Given the description of an element on the screen output the (x, y) to click on. 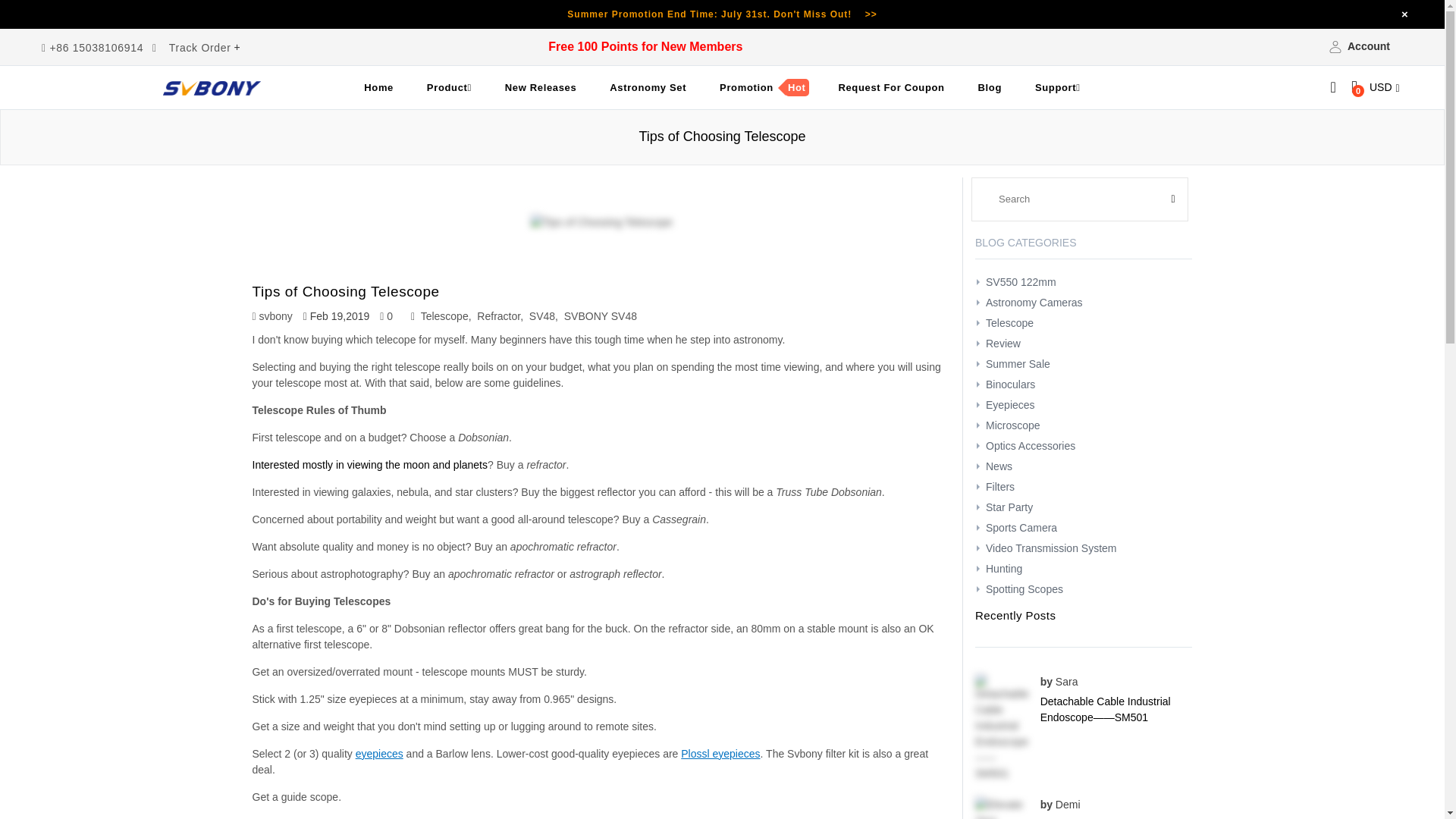
Home (379, 87)
Track Order (199, 47)
Svbony Plossl Eyepieces (720, 753)
Svbony (211, 88)
Support (1058, 87)
Product (449, 87)
Svbony Eyepieces (379, 753)
